Given the description of an element on the screen output the (x, y) to click on. 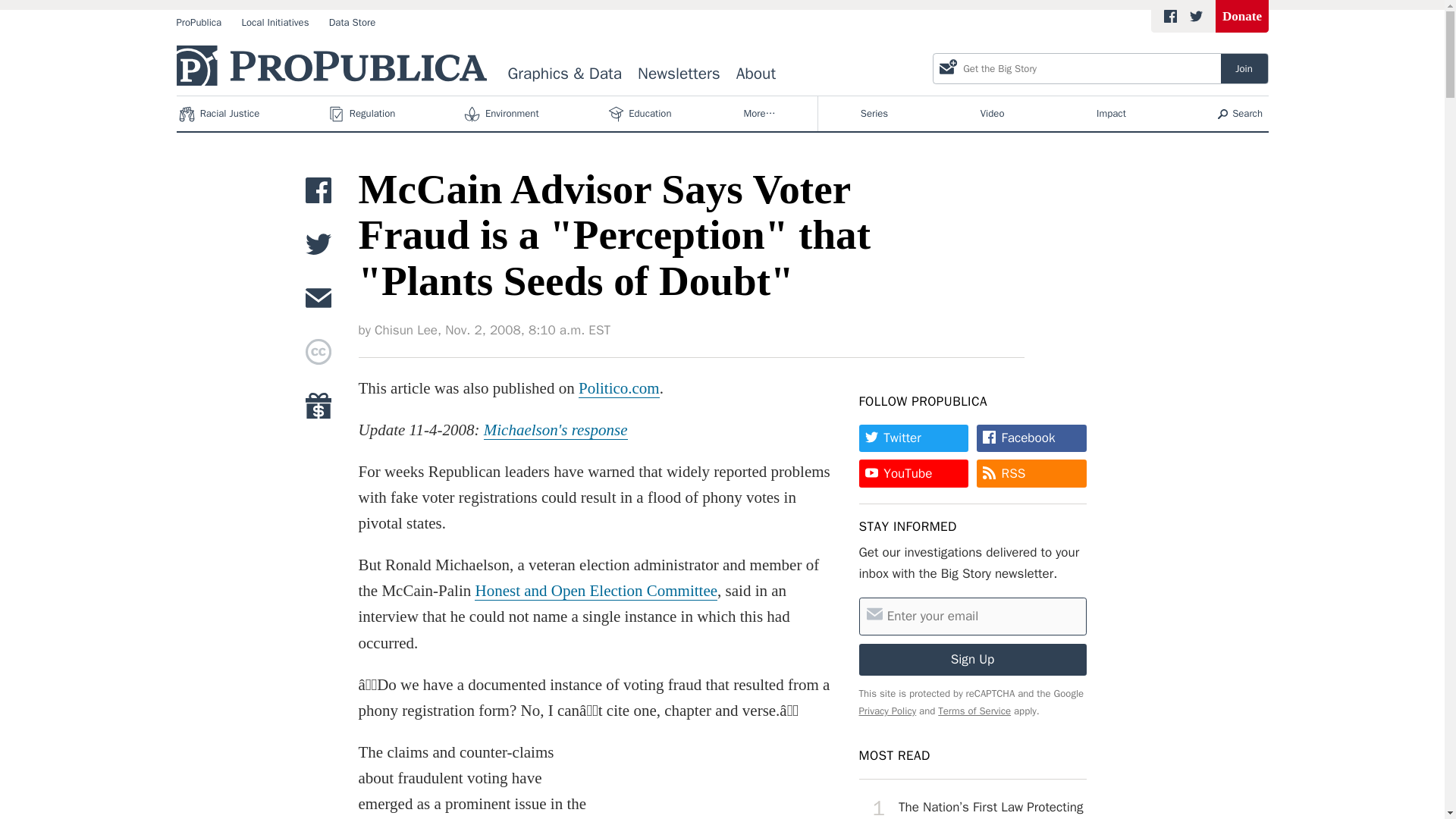
ProPublica (198, 22)
Donate (1241, 16)
Education (641, 113)
Chisun Lee (406, 330)
Regulation (363, 113)
Search (1240, 113)
Series (873, 113)
Politico.com (618, 388)
Video (992, 113)
Join (1244, 68)
Local Initiatives (274, 22)
About (755, 74)
Join (1244, 68)
Racial Justice (220, 113)
Michaelson's response (555, 429)
